Given the description of an element on the screen output the (x, y) to click on. 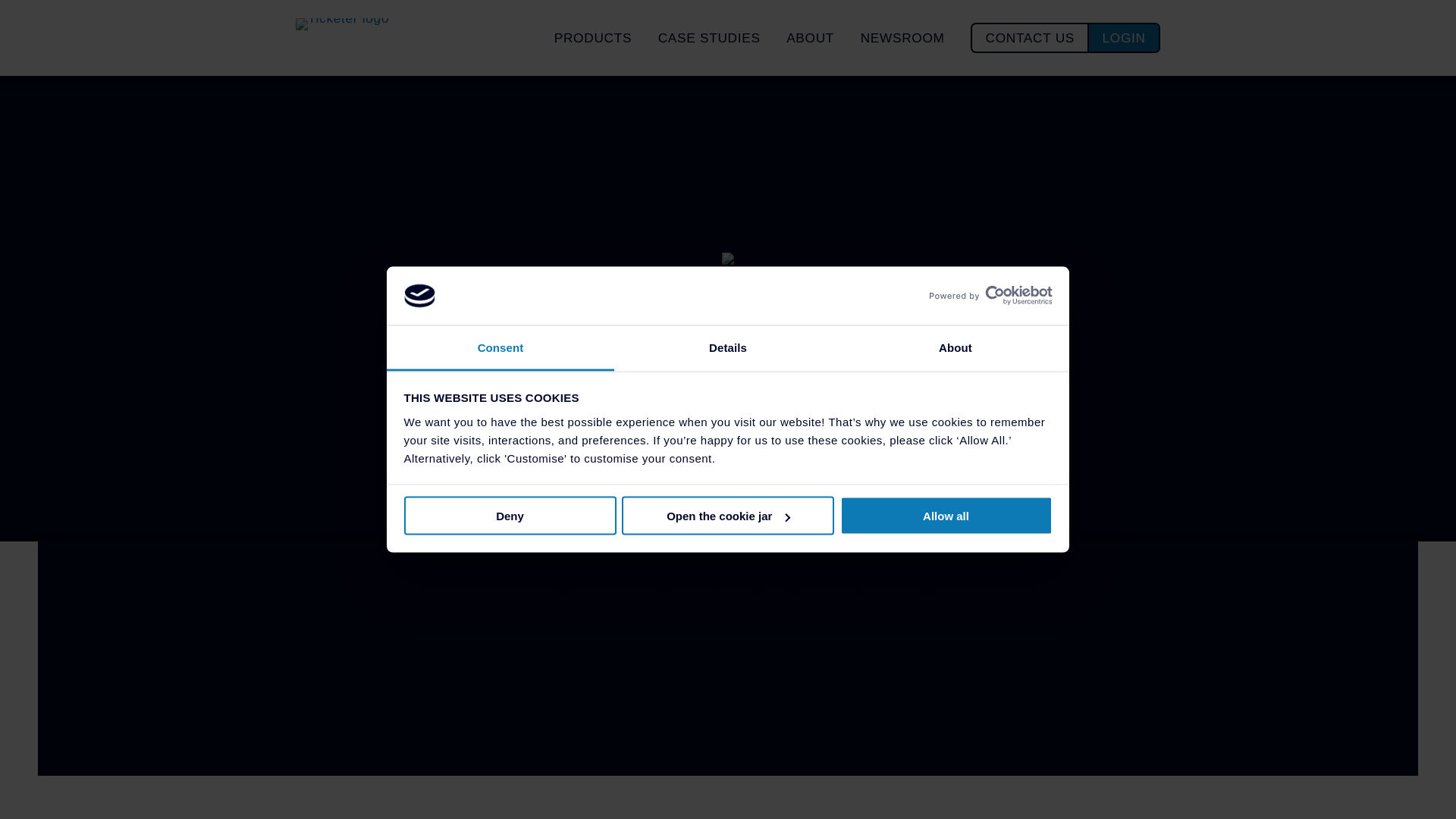
Details (727, 348)
Consent (500, 348)
About (954, 348)
